Given the description of an element on the screen output the (x, y) to click on. 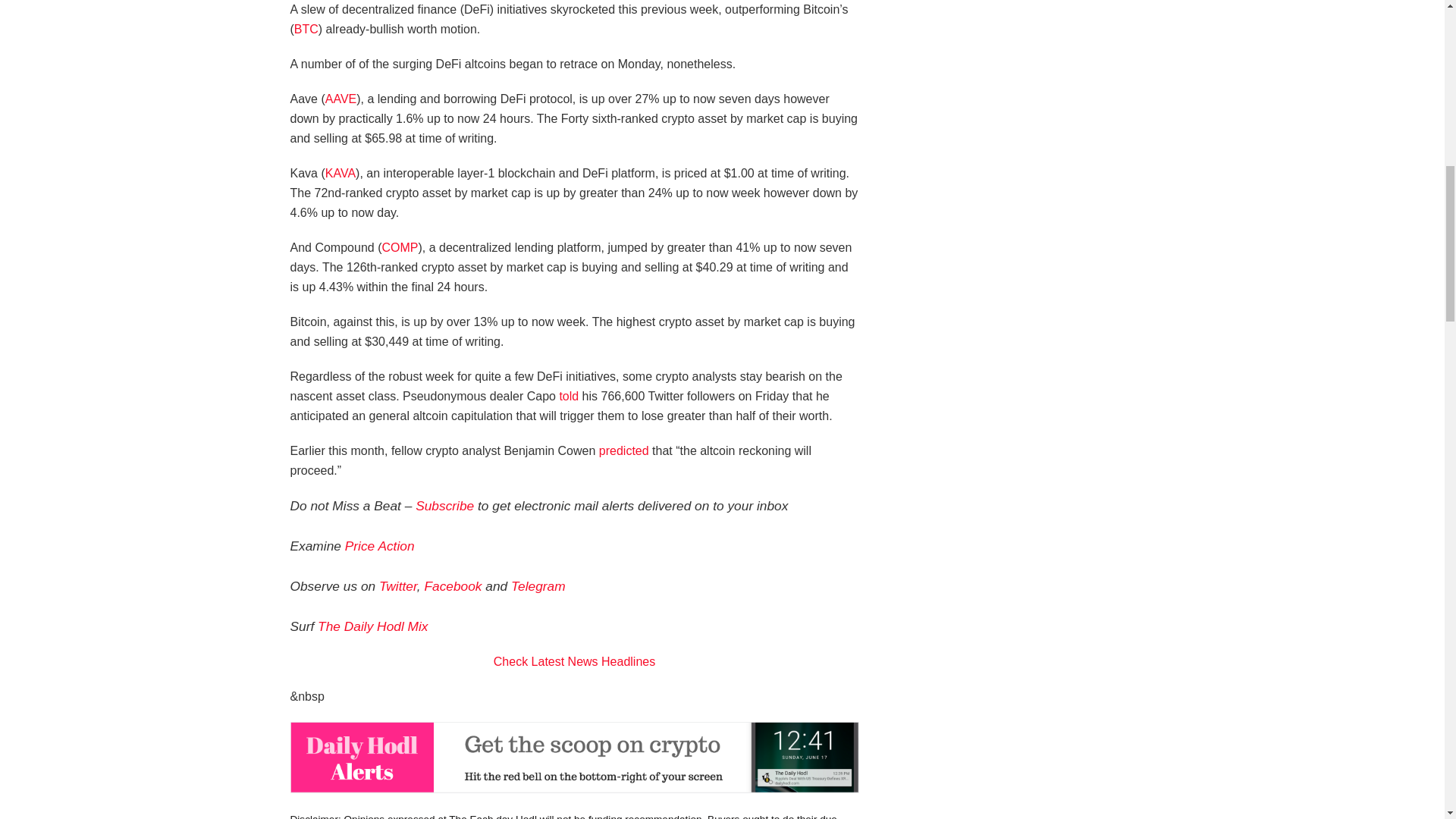
BTC (306, 29)
